Given the description of an element on the screen output the (x, y) to click on. 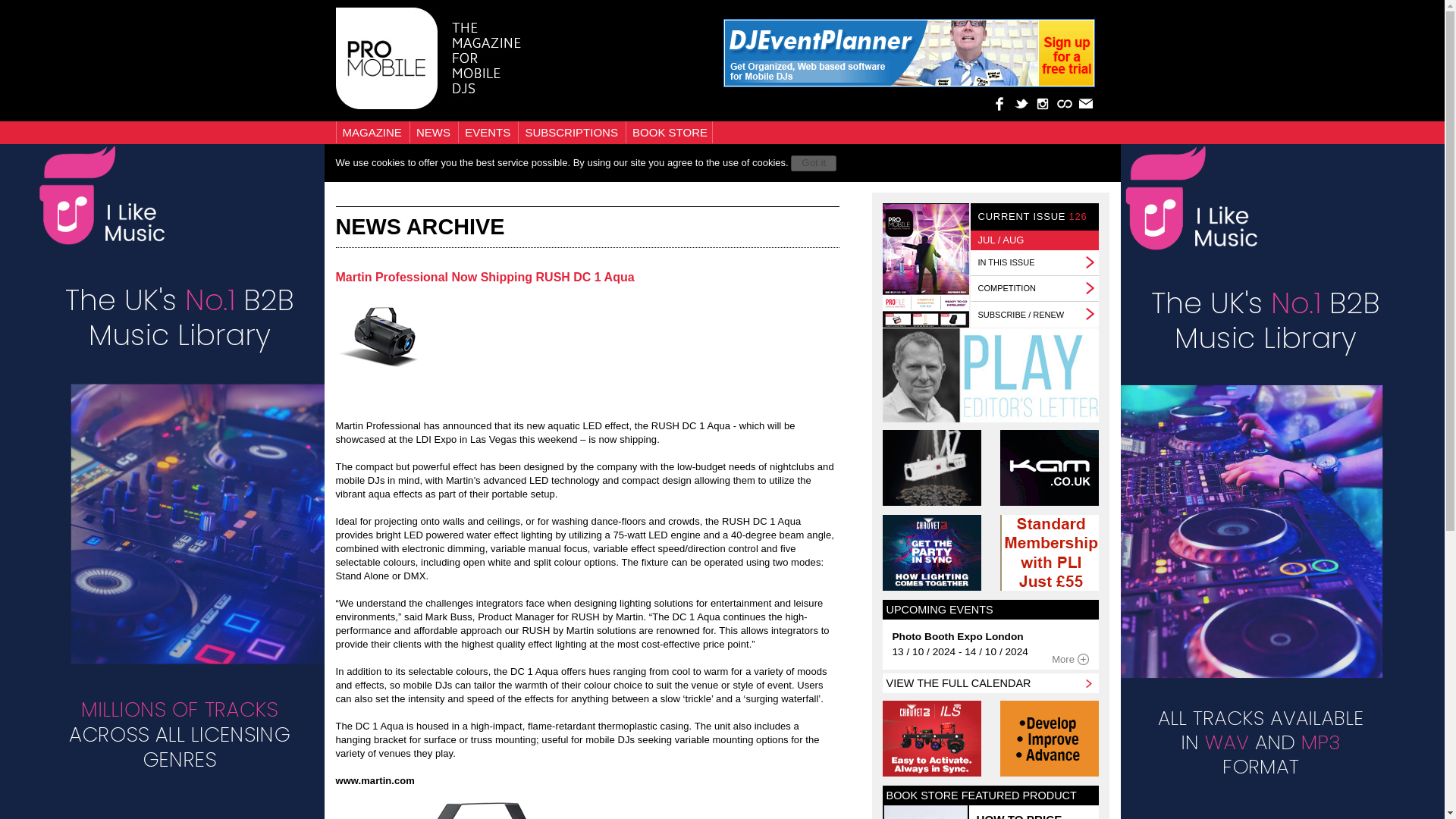
SUBSCRIPTIONS (572, 132)
EVENTS (488, 132)
BOOK STORE (669, 132)
NEWS (434, 132)
MAGAZINE (374, 132)
